Given the description of an element on the screen output the (x, y) to click on. 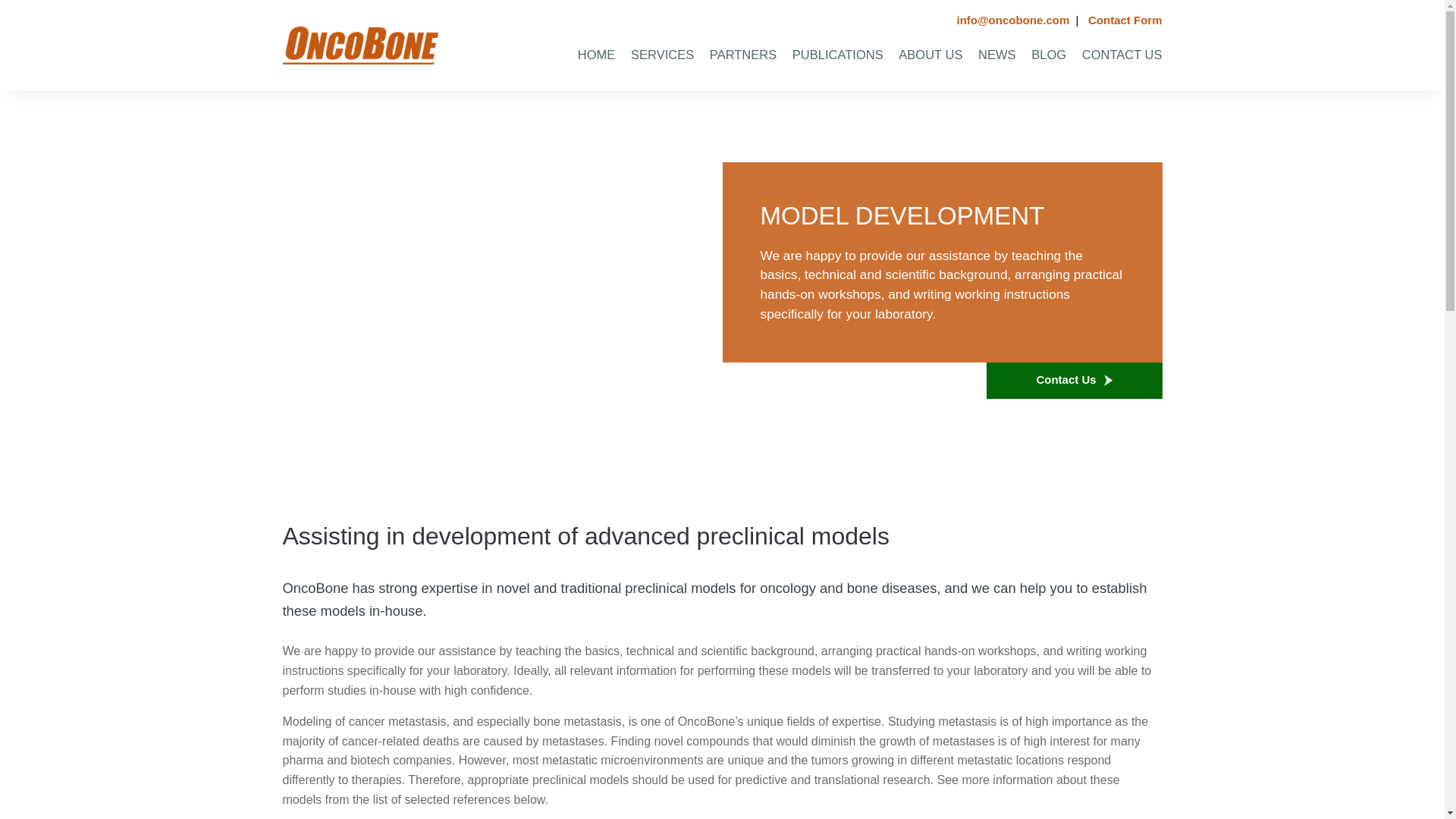
BLOG (1042, 54)
HOME (589, 54)
SERVICES (656, 54)
Contact Us (1073, 380)
PUBLICATIONS (830, 54)
Contact Form (1124, 19)
PARTNERS (736, 54)
CONTACT US (1114, 54)
NEWS (991, 54)
ABOUT US (924, 54)
